Given the description of an element on the screen output the (x, y) to click on. 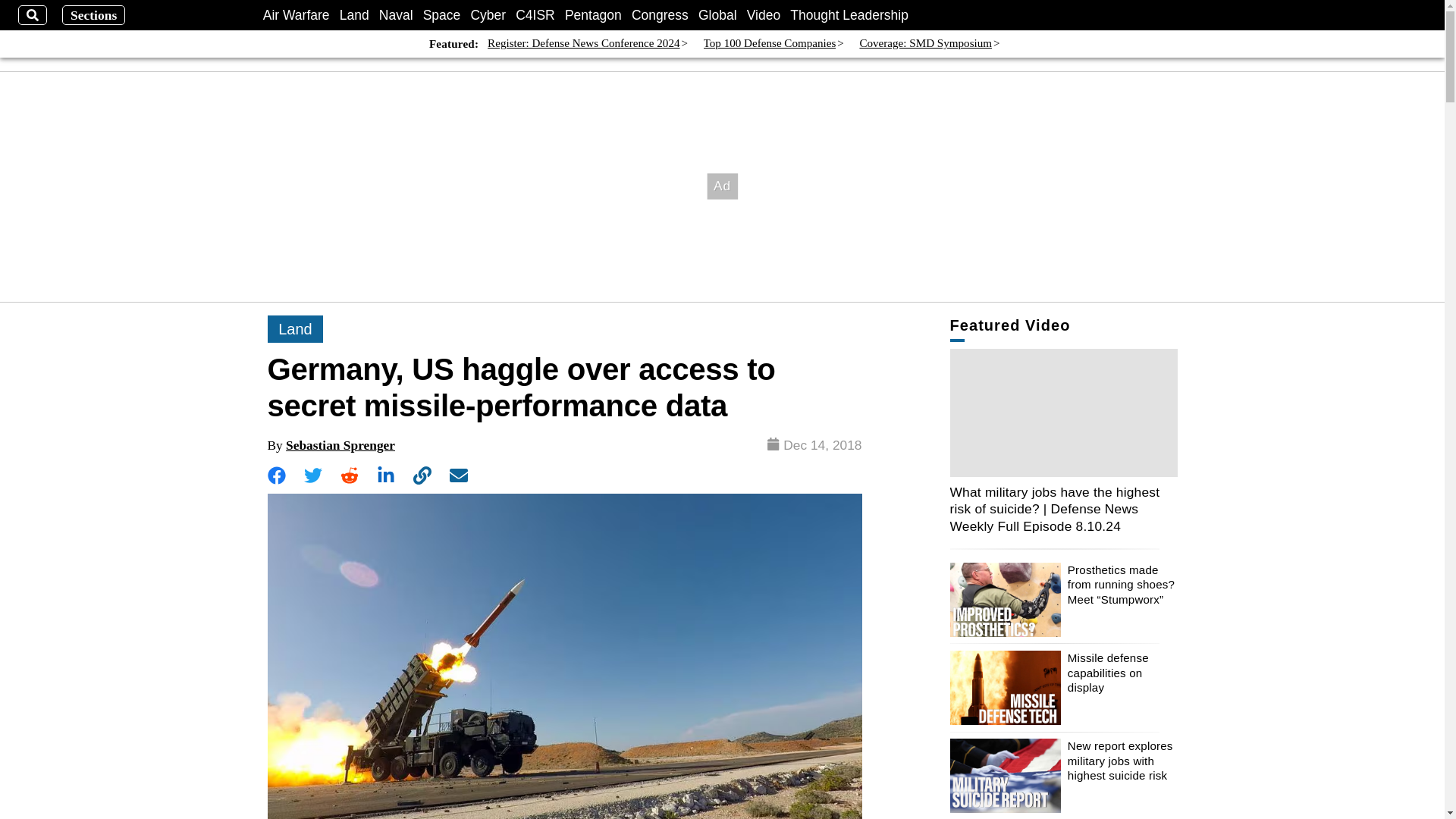
Naval (395, 14)
Global (717, 14)
Video (763, 14)
Congress (659, 14)
Space (442, 14)
Pentagon (592, 14)
Thought Leadership (849, 14)
Land (354, 14)
Sections (93, 14)
Air Warfare (296, 14)
